Given the description of an element on the screen output the (x, y) to click on. 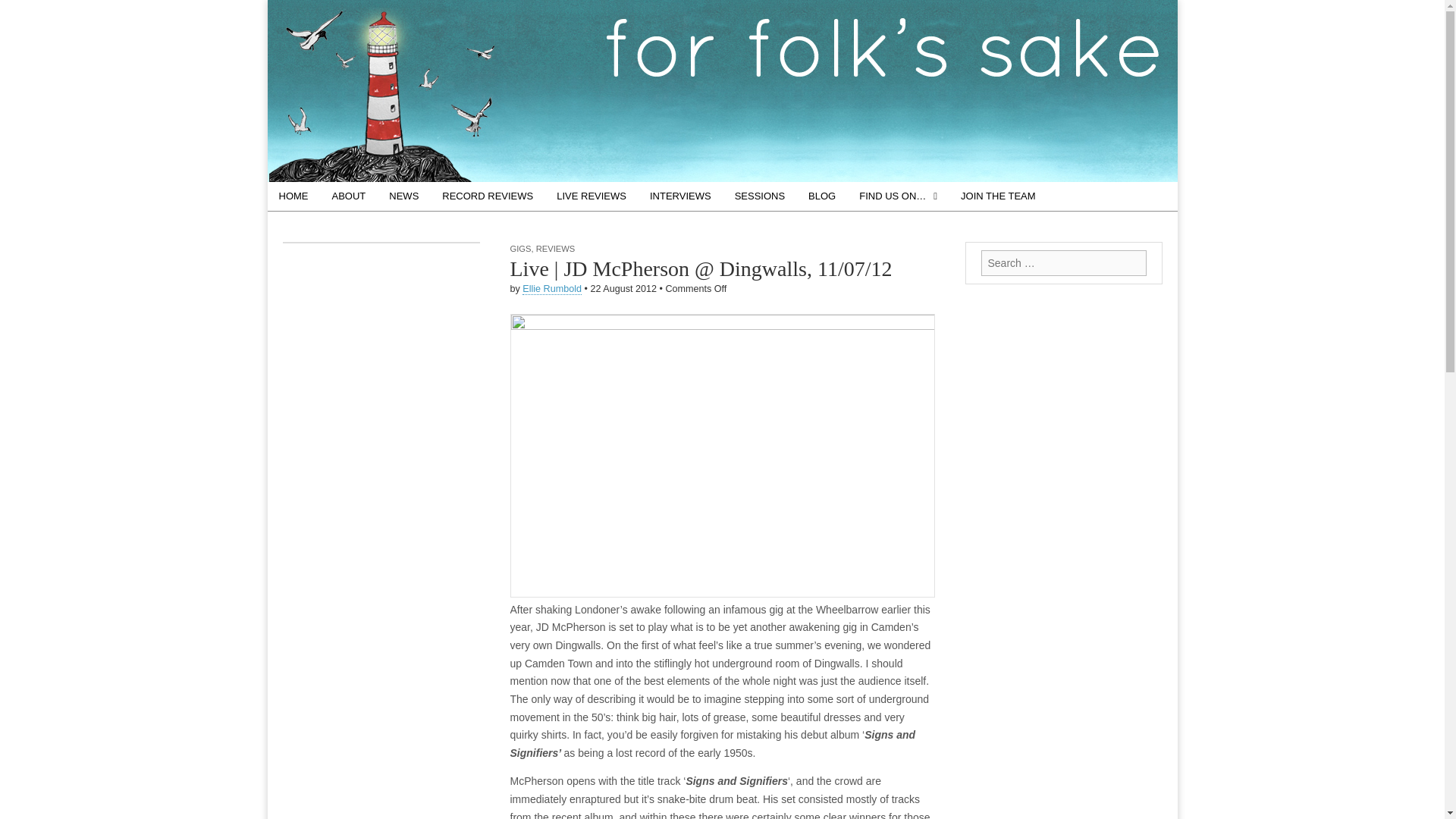
Ellie Rumbold (551, 288)
SESSIONS (759, 195)
REVIEWS (555, 248)
INTERVIEWS (680, 195)
Search (23, 12)
NEWS (403, 195)
ABOUT (348, 195)
